Given the description of an element on the screen output the (x, y) to click on. 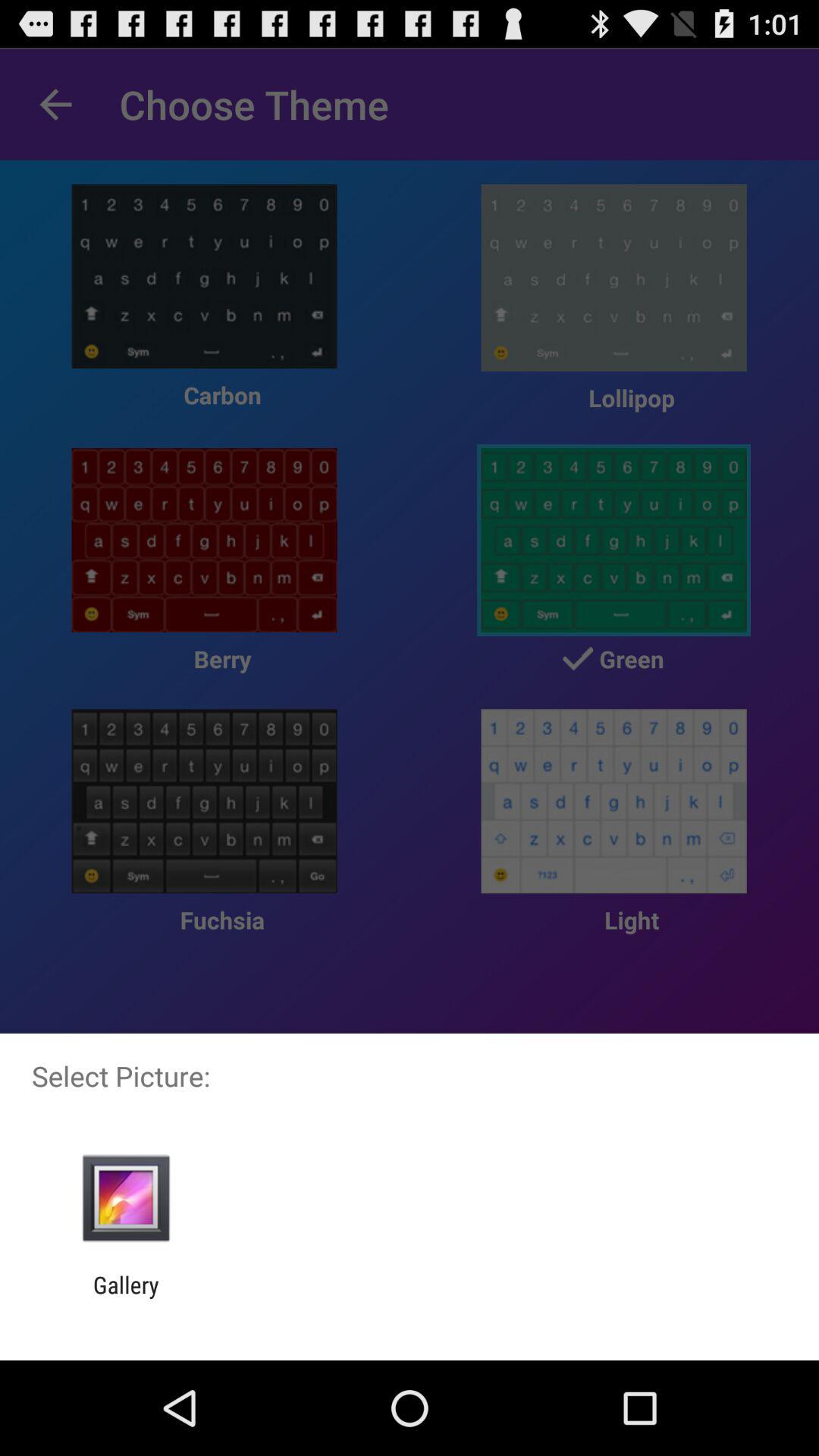
choose app below select picture: icon (126, 1198)
